Given the description of an element on the screen output the (x, y) to click on. 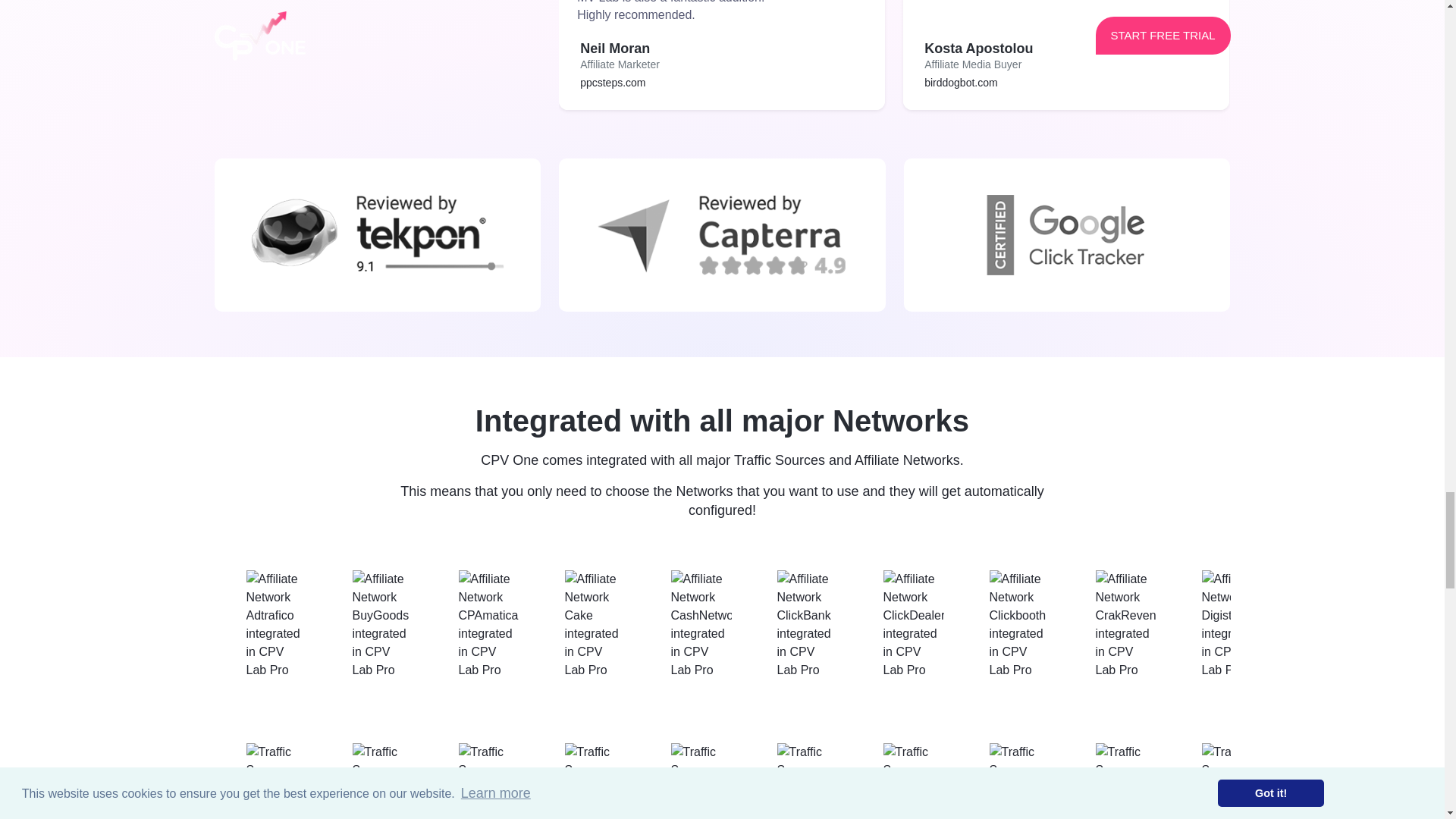
ppcsteps.com (612, 82)
birddogbot.com (960, 82)
